Given the description of an element on the screen output the (x, y) to click on. 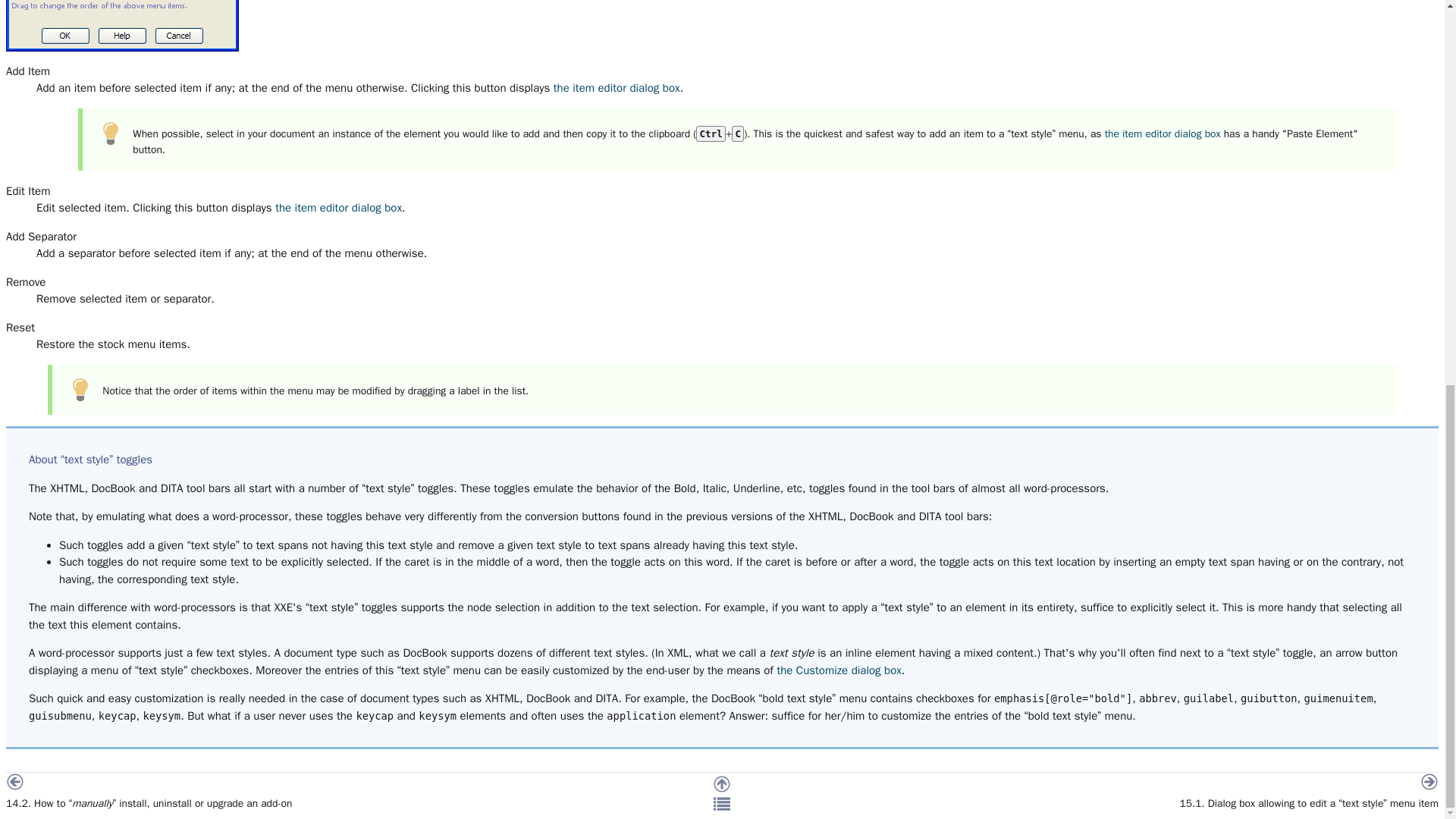
the item editor dialog box (338, 207)
the Customize dialog box (838, 670)
the item editor dialog box (616, 88)
the item editor dialog box (1163, 133)
